Given the description of an element on the screen output the (x, y) to click on. 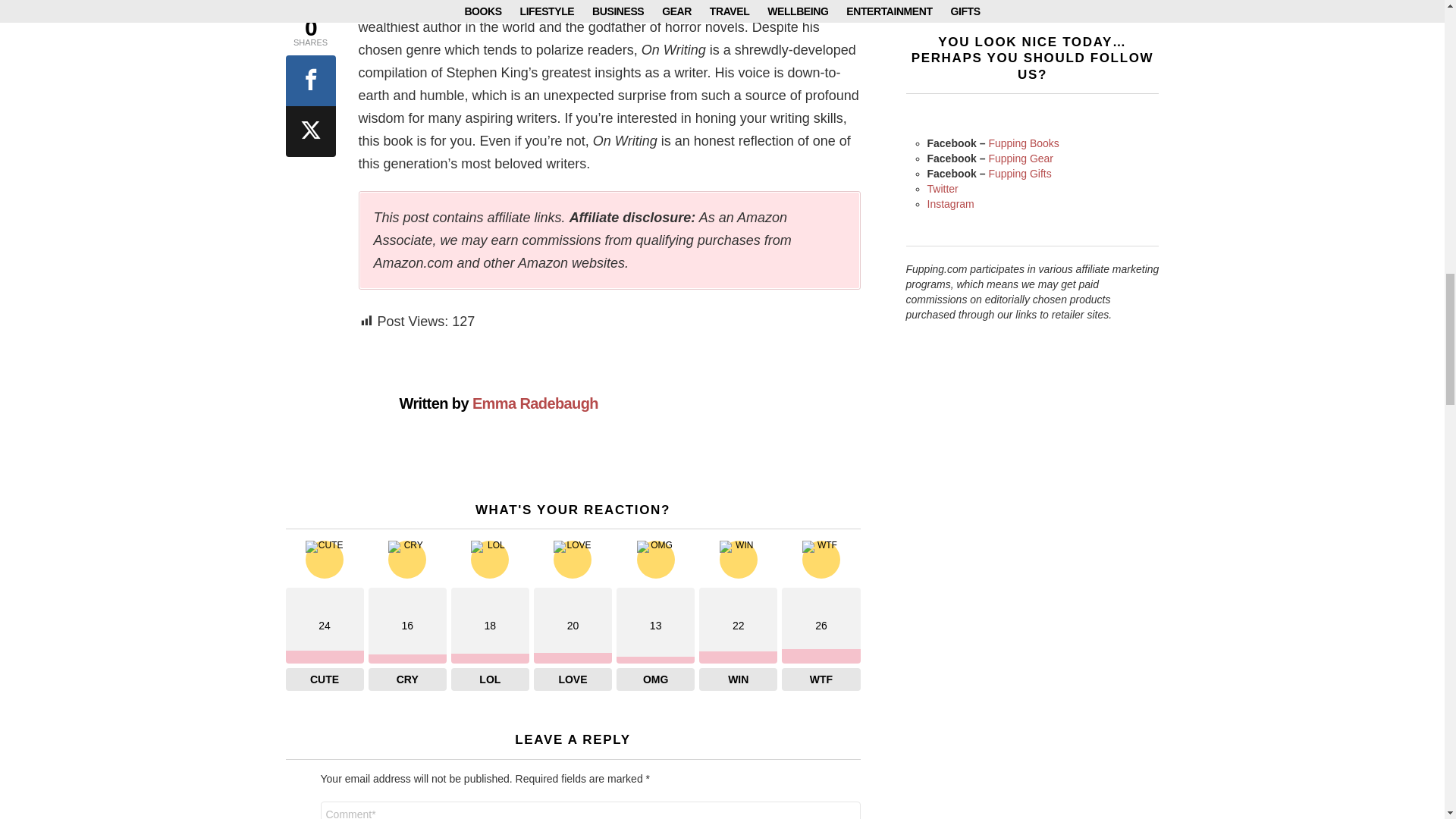
Emma Radebaugh (534, 402)
